Given the description of an element on the screen output the (x, y) to click on. 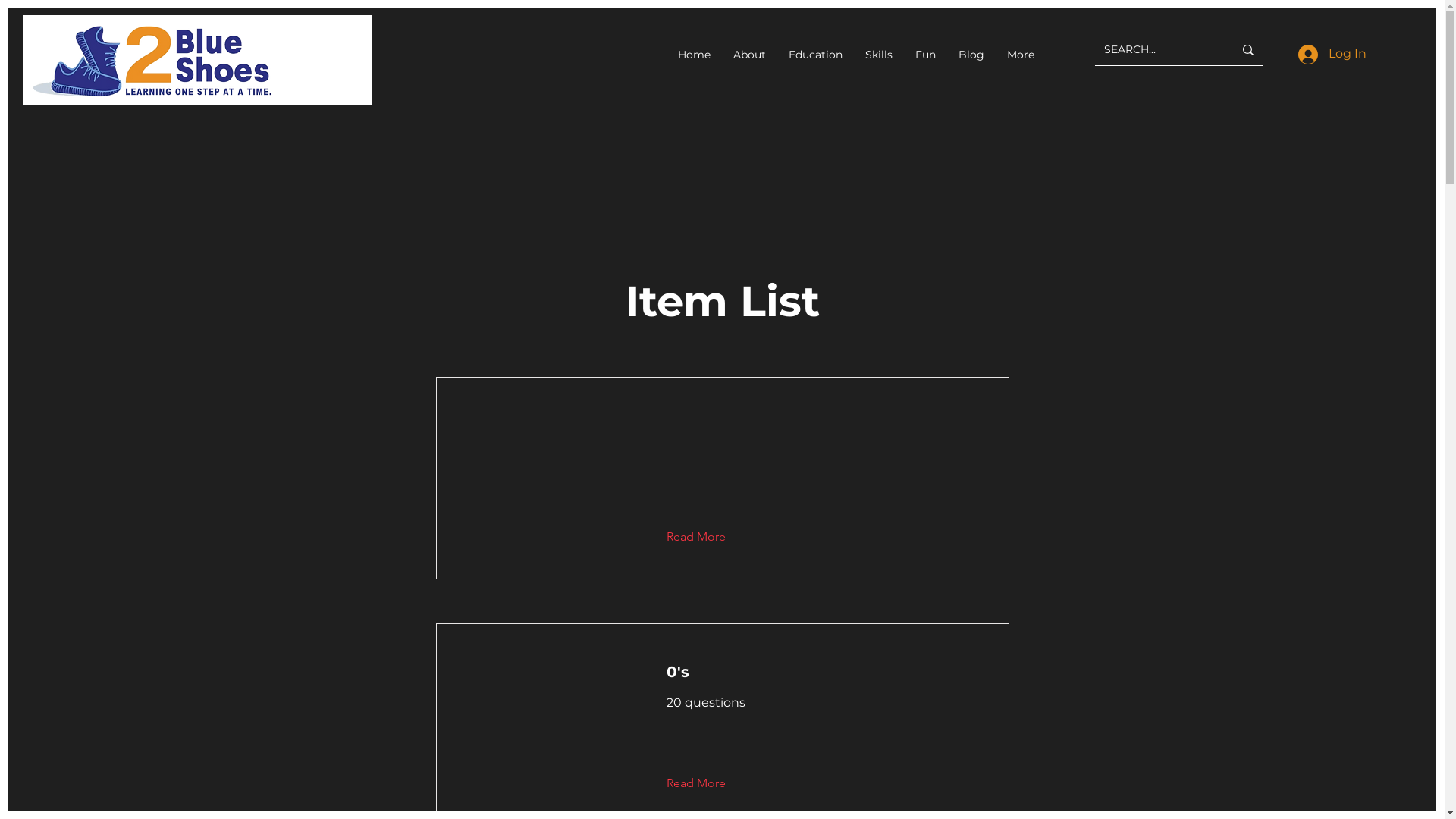
About Element type: text (749, 54)
Home Element type: text (693, 54)
Blog Element type: text (971, 54)
Log In Element type: text (1332, 53)
